Given the description of an element on the screen output the (x, y) to click on. 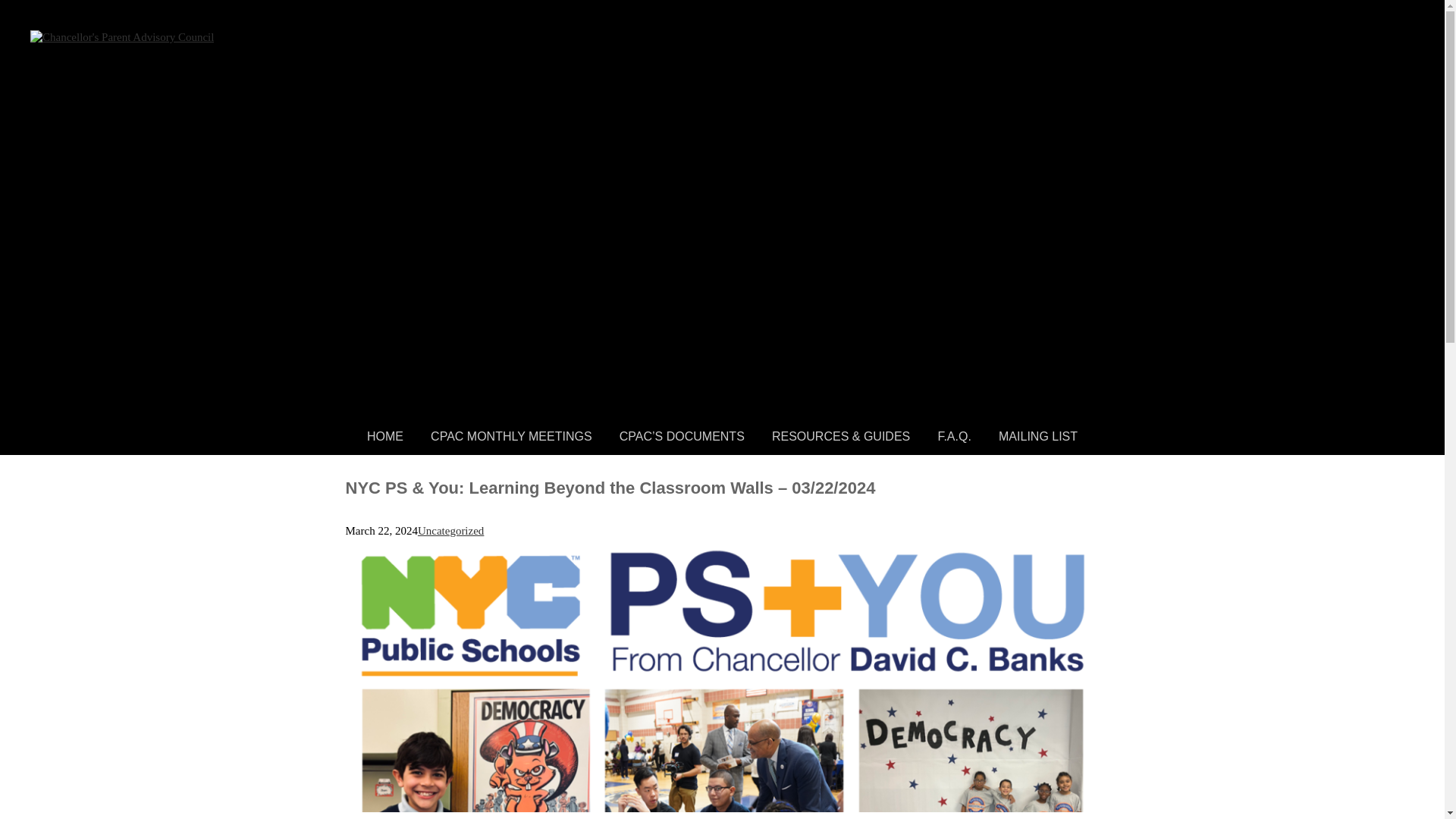
MAILING LIST (1038, 436)
HOME (384, 436)
F.A.Q. (953, 436)
CPAC MONTHLY MEETINGS (511, 436)
Uncategorized (450, 530)
